Given the description of an element on the screen output the (x, y) to click on. 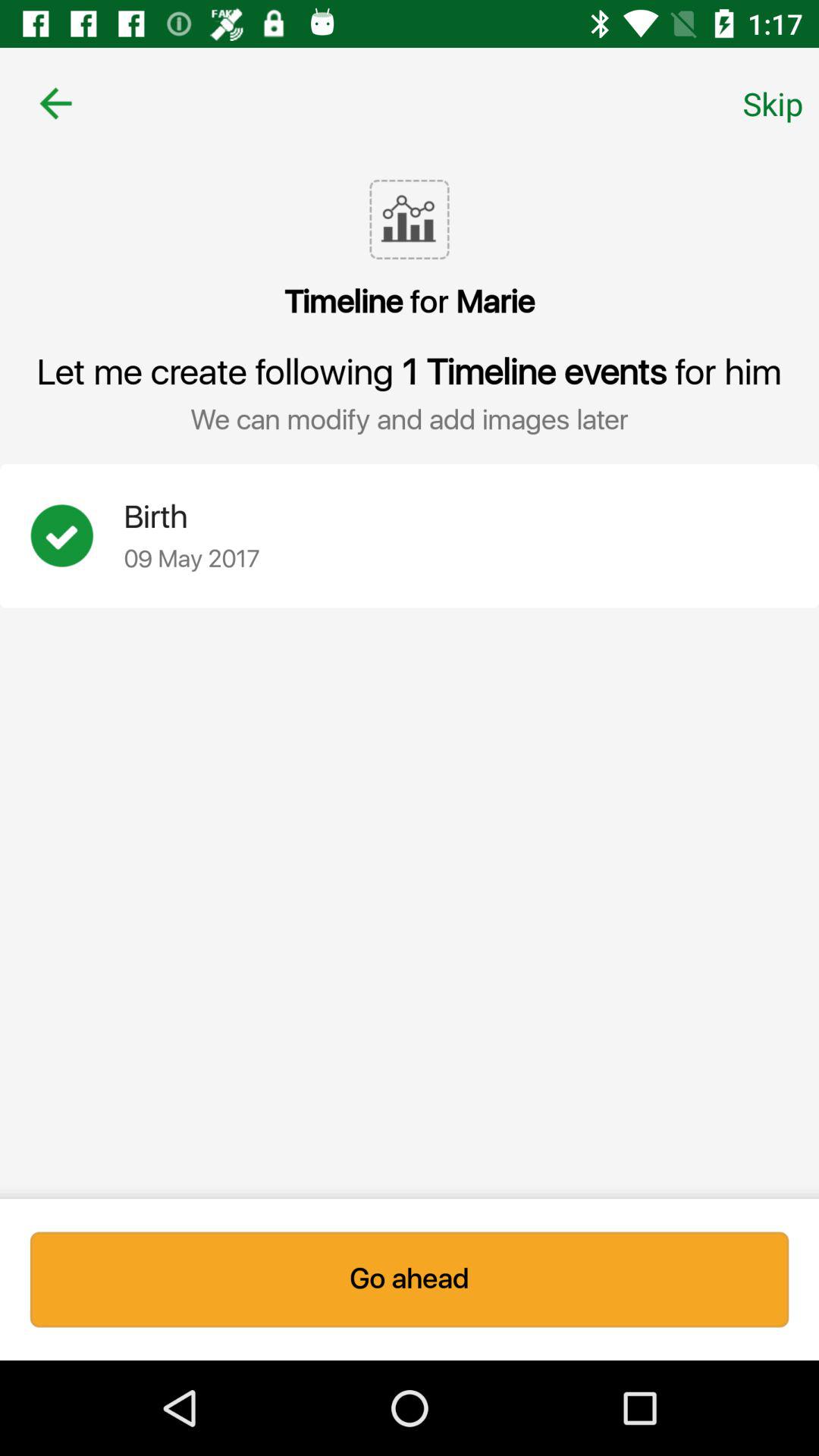
press icon next to the birth icon (76, 535)
